Given the description of an element on the screen output the (x, y) to click on. 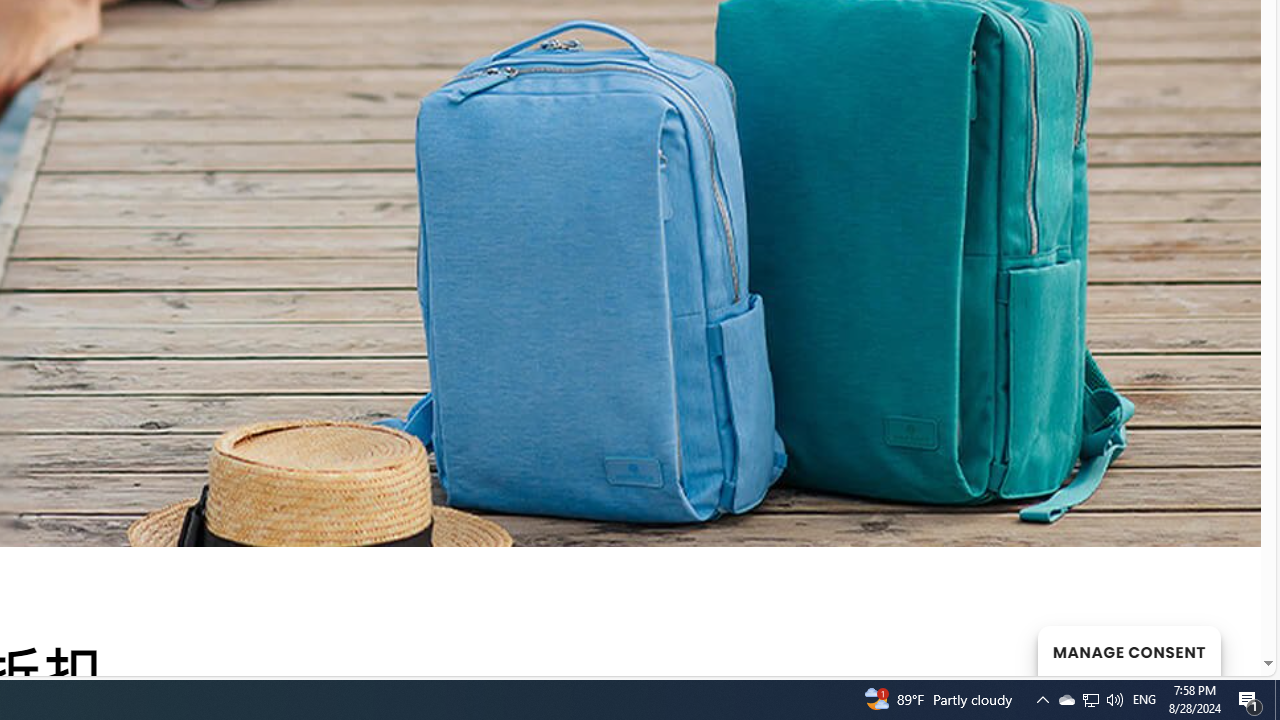
MANAGE CONSENT (1128, 650)
